Given the description of an element on the screen output the (x, y) to click on. 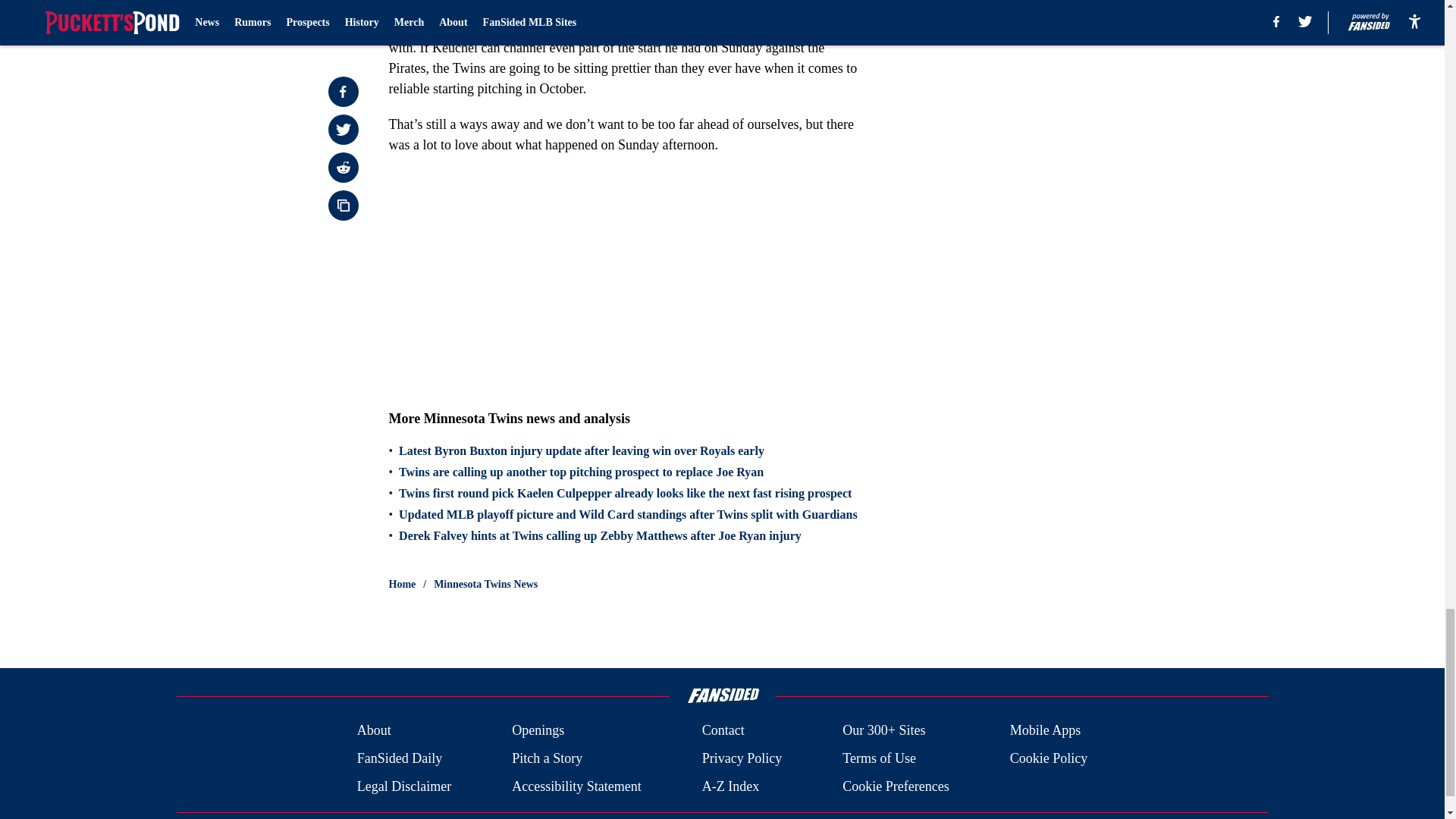
Contact (722, 730)
Privacy Policy (742, 758)
Pitch a Story (547, 758)
A-Z Index (729, 786)
Accessibility Statement (576, 786)
Home (401, 584)
FanSided Daily (399, 758)
